Given the description of an element on the screen output the (x, y) to click on. 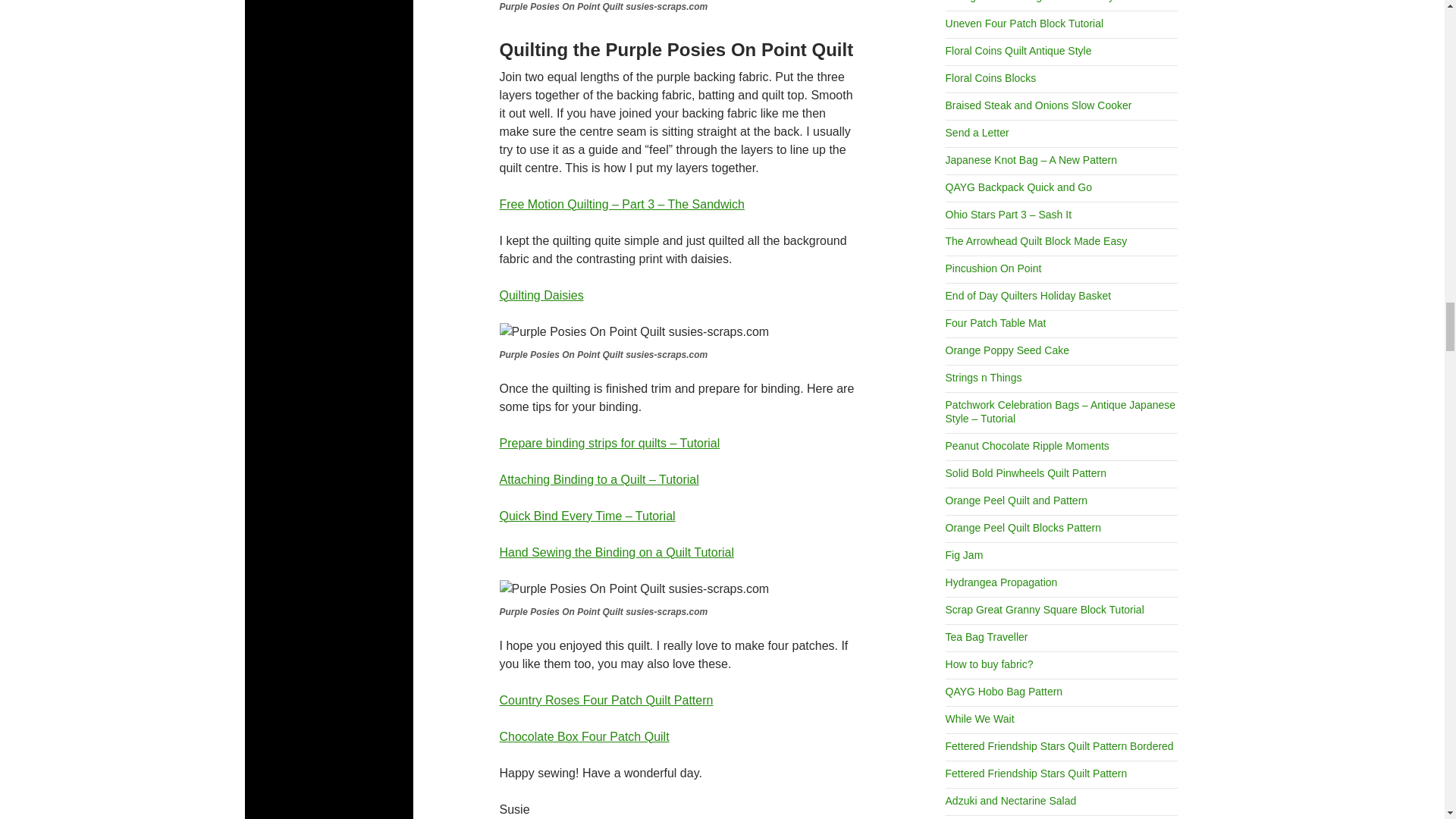
Hand Sewing the Binding on a Quilt Tutorial (616, 552)
Country Roses Four Patch Quilt Pattern (606, 698)
Quilting Daisies (541, 294)
Chocolate Box Four Patch Quilt (583, 735)
